Given the description of an element on the screen output the (x, y) to click on. 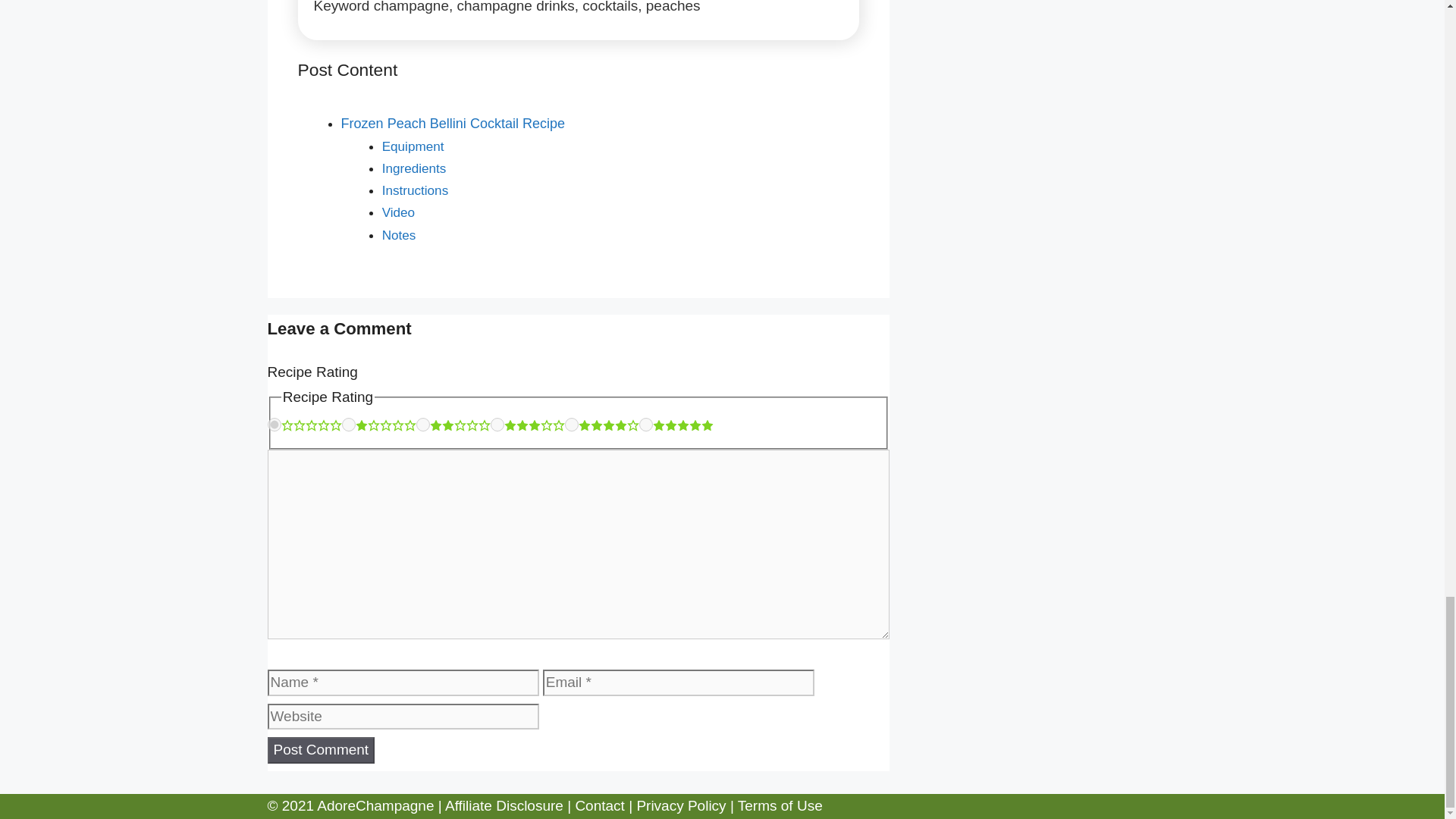
Post Comment (320, 750)
Notes (398, 234)
Post Comment (320, 750)
Privacy Policy (680, 805)
Frozen Peach Bellini Cocktail Recipe (453, 123)
3 (496, 424)
Frozen Peach Bellini Cocktail Recipe (453, 123)
Notes (398, 234)
Video (397, 212)
Ingredients   (416, 168)
Instructions  (416, 190)
1 (348, 424)
Video (397, 212)
